Given the description of an element on the screen output the (x, y) to click on. 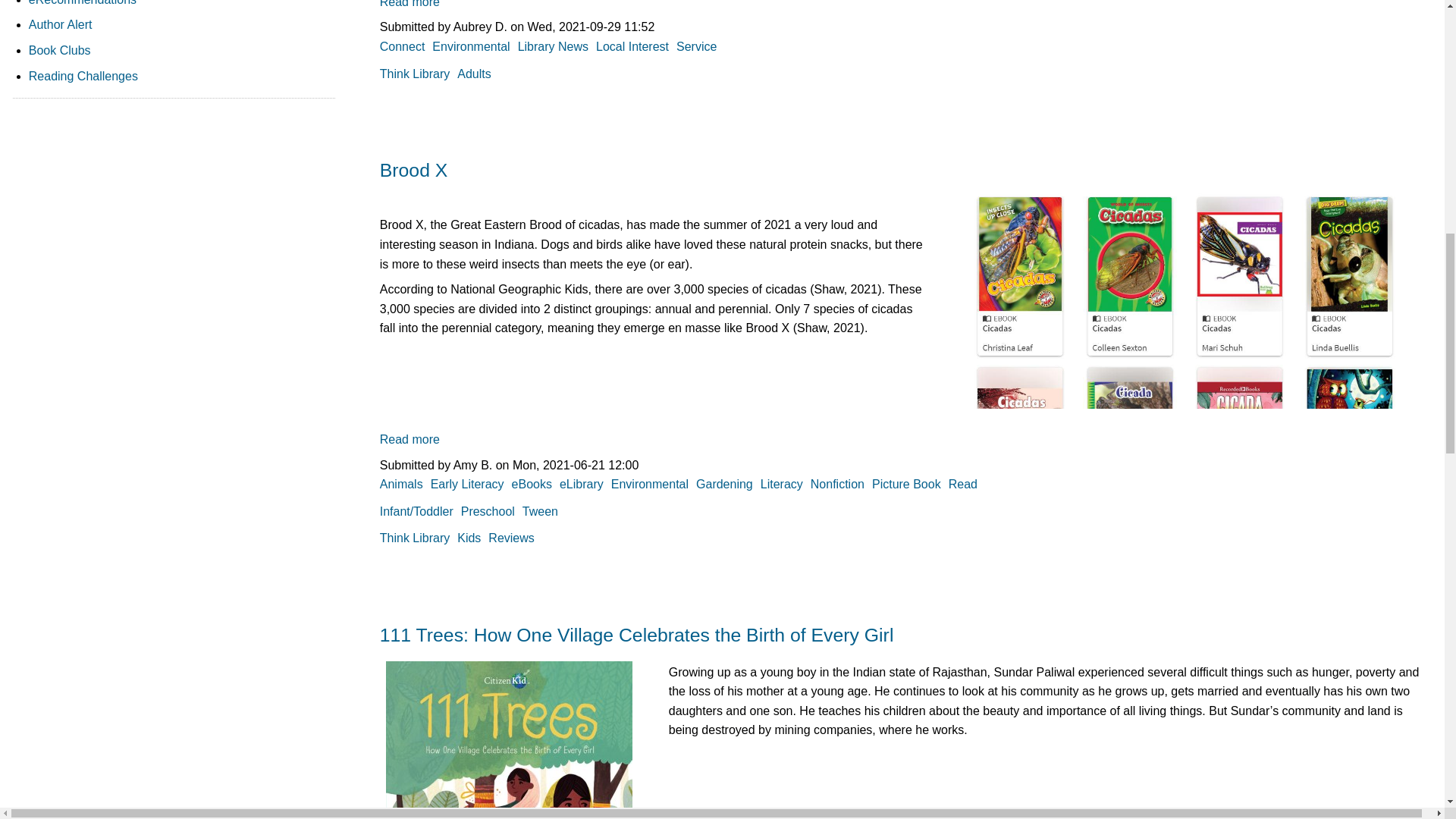
Reading Challenges (83, 75)
Connect (402, 46)
eRecommendations (82, 2)
Book Clubs (59, 50)
Energy and Water Assistance for Hoosiers (409, 4)
Author Alert (409, 4)
Hoopla Cicada Titles (61, 24)
Brood X (1183, 299)
